Given the description of an element on the screen output the (x, y) to click on. 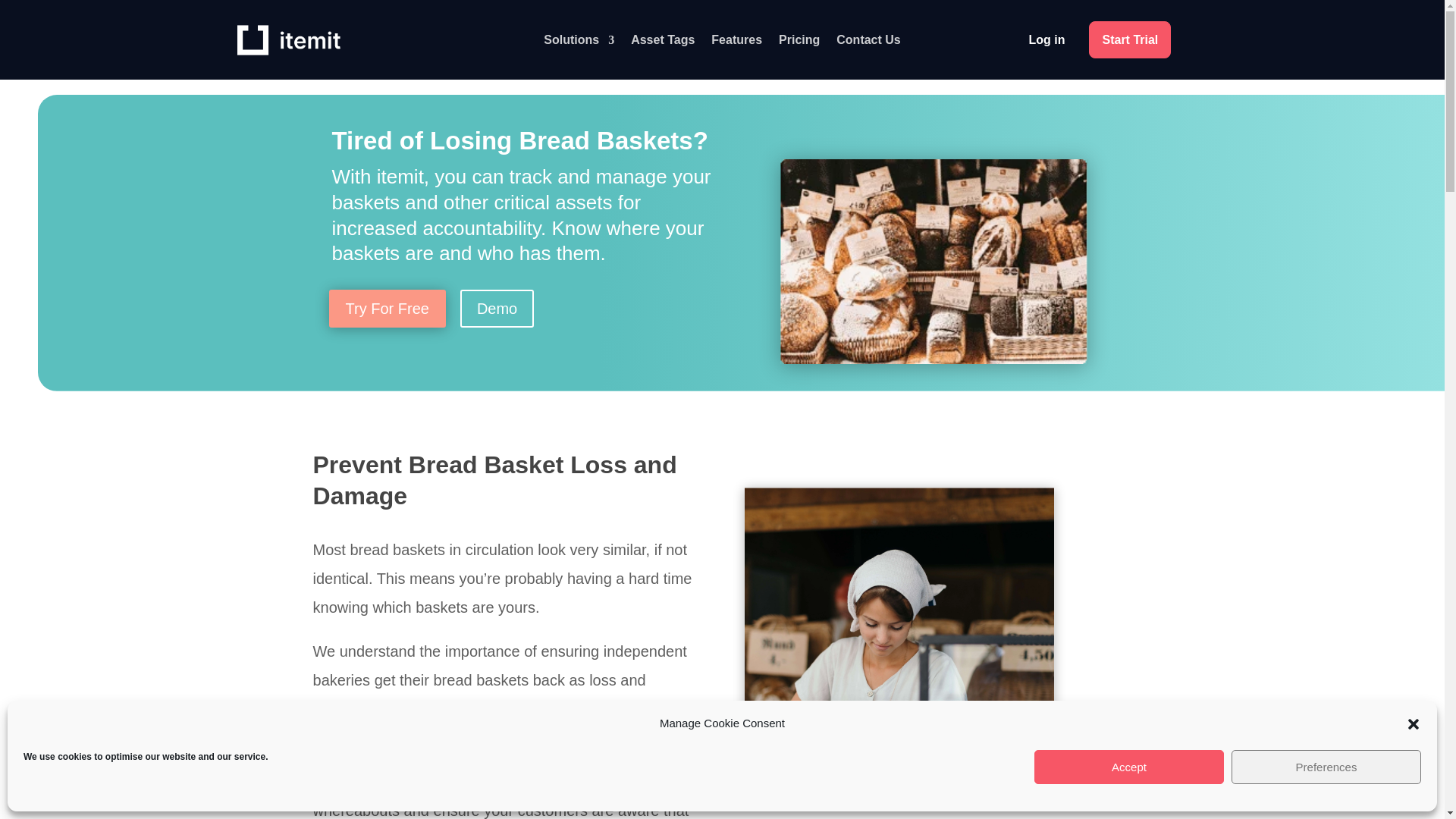
Asset Tags (662, 43)
Solutions (578, 43)
Log in (1046, 39)
Contact Us (867, 43)
bread baskets and bakeries (882, 226)
Features (736, 43)
Accept (1128, 766)
Preferences (1326, 766)
itemit-logo-alt (287, 40)
Pricing (798, 43)
